Given the description of an element on the screen output the (x, y) to click on. 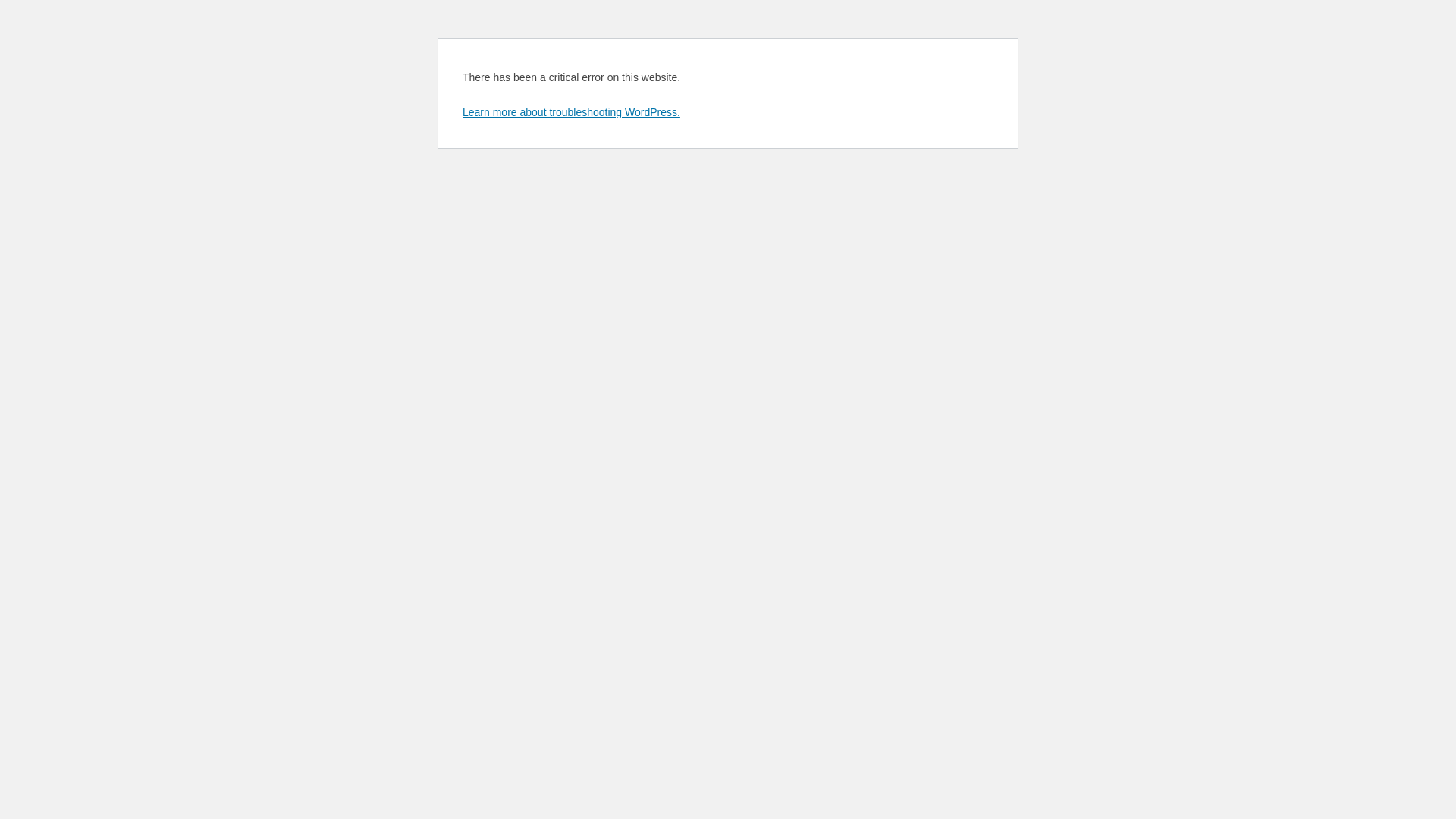
Learn more about troubleshooting WordPress. Element type: text (571, 112)
